Given the description of an element on the screen output the (x, y) to click on. 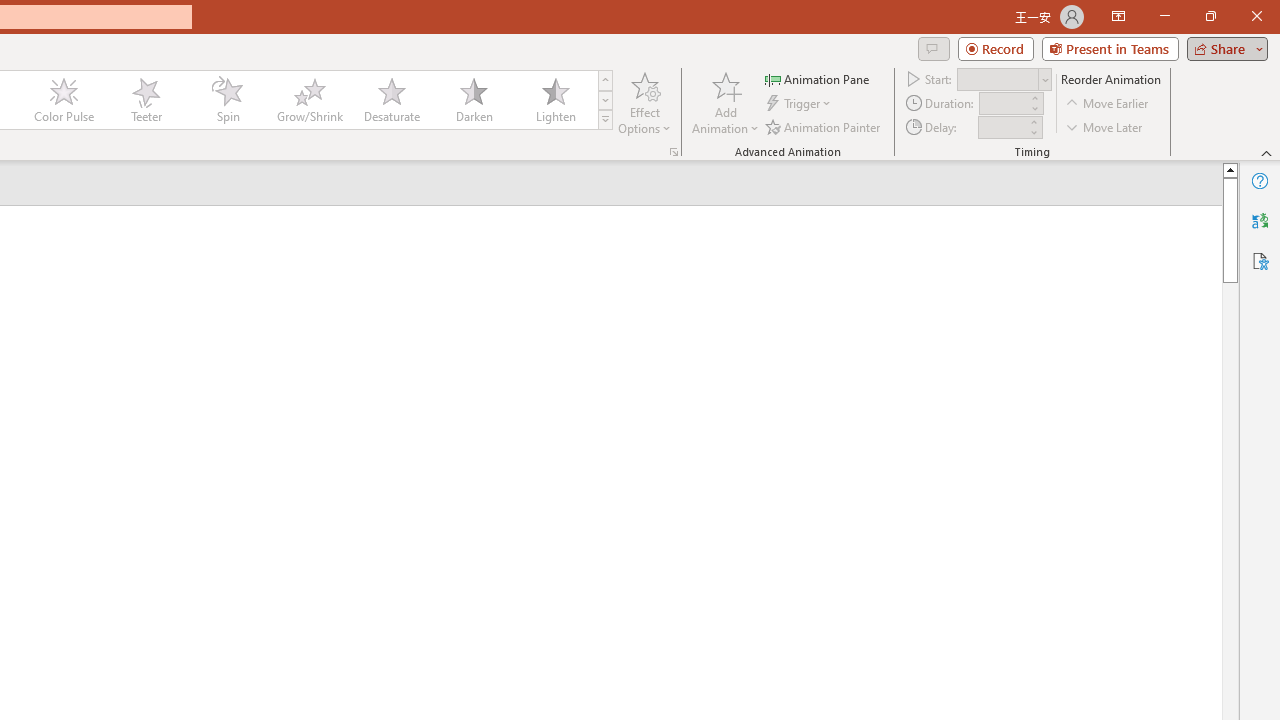
Lighten (555, 100)
Row Down (605, 100)
Present in Teams (1109, 48)
Color Pulse (63, 100)
Move Later (1105, 126)
Class: NetUIImage (605, 119)
Minimize (1164, 16)
Close (1256, 16)
Move Earlier (1107, 103)
Help (1260, 180)
Desaturate (391, 100)
More (1033, 121)
Collapse the Ribbon (1267, 152)
Record (995, 48)
